Given the description of an element on the screen output the (x, y) to click on. 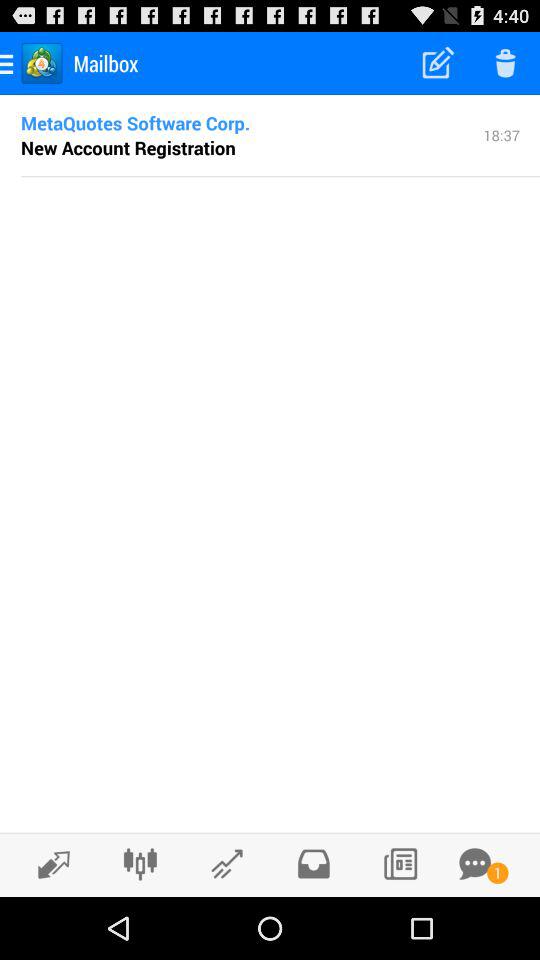
open messages (475, 864)
